Given the description of an element on the screen output the (x, y) to click on. 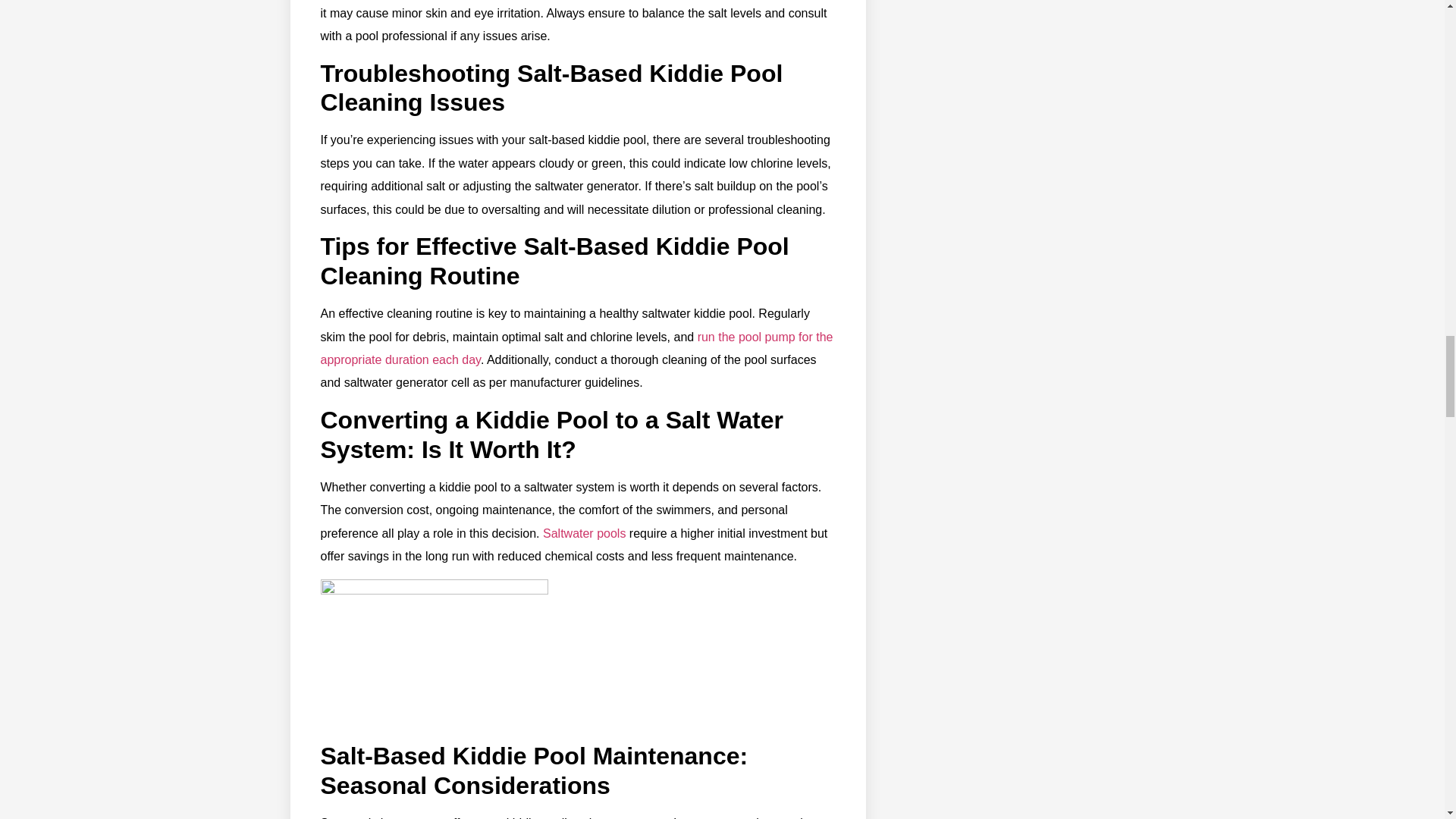
run the pool pump for the appropriate duration each day (576, 348)
Saltwater pools (584, 533)
